Given the description of an element on the screen output the (x, y) to click on. 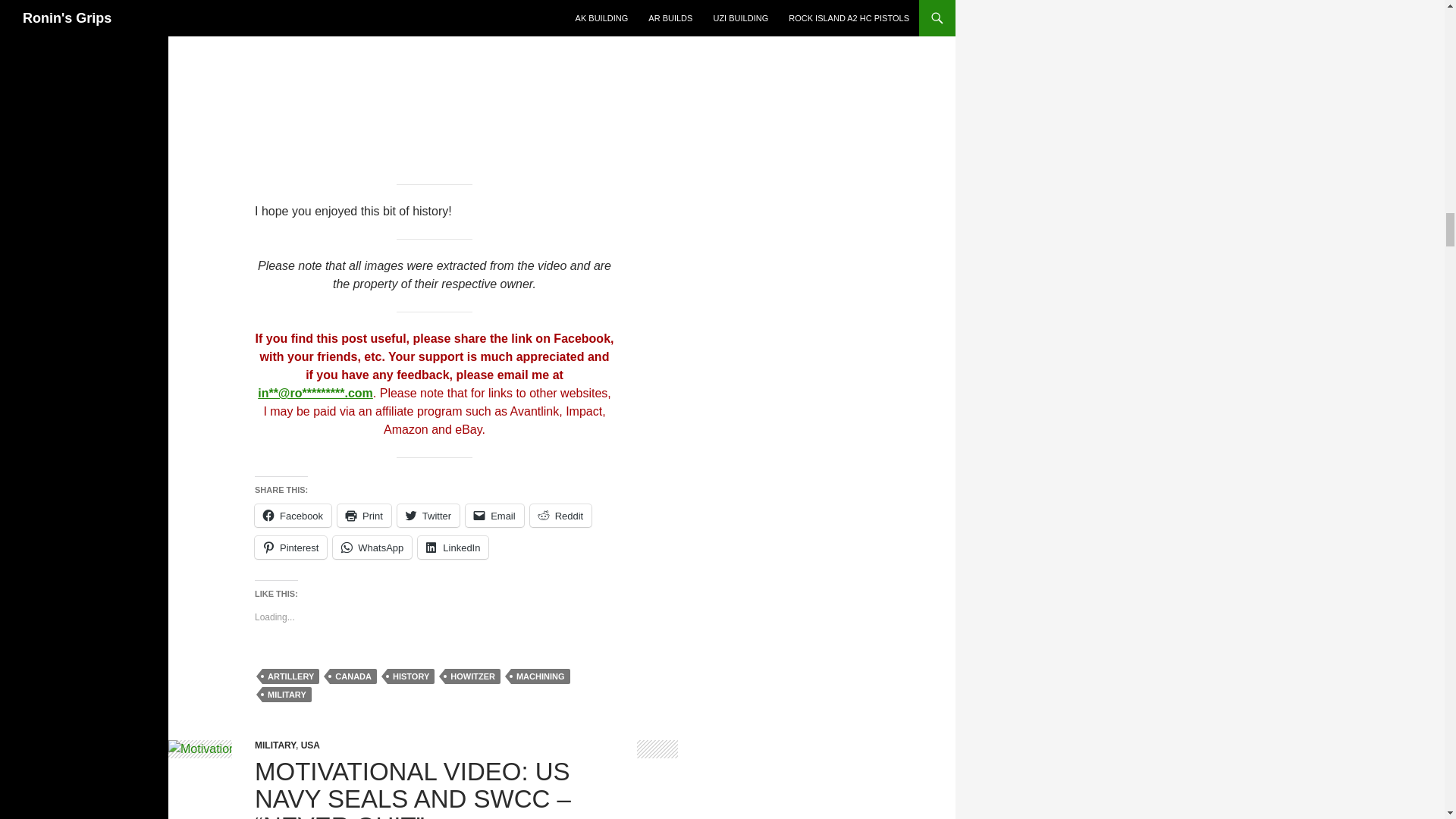
YouTube player (434, 74)
Click to share on Facebook (292, 515)
Click to print (364, 515)
Click to share on Twitter (428, 515)
